Given the description of an element on the screen output the (x, y) to click on. 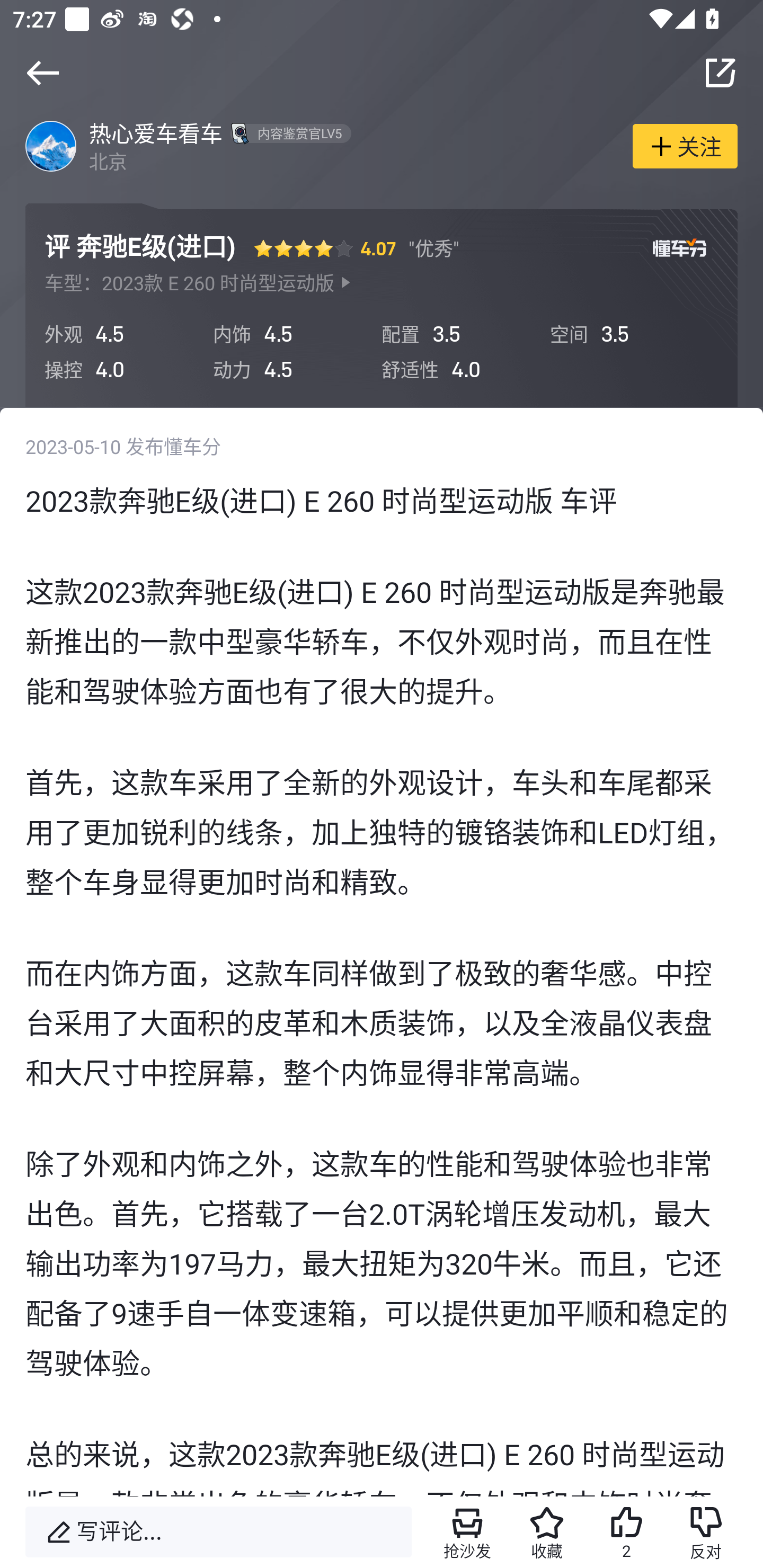
 (42, 72)
 (720, 72)
内容鉴赏官LV5 (287, 133)
 关注 (684, 145)
车型：2023款 E 260 时尚型运动版  (198, 282)
 抢沙发 (467, 1531)
收藏 (546, 1531)
2 (625, 1531)
反对 (705, 1531)
 写评论... (218, 1531)
